Given the description of an element on the screen output the (x, y) to click on. 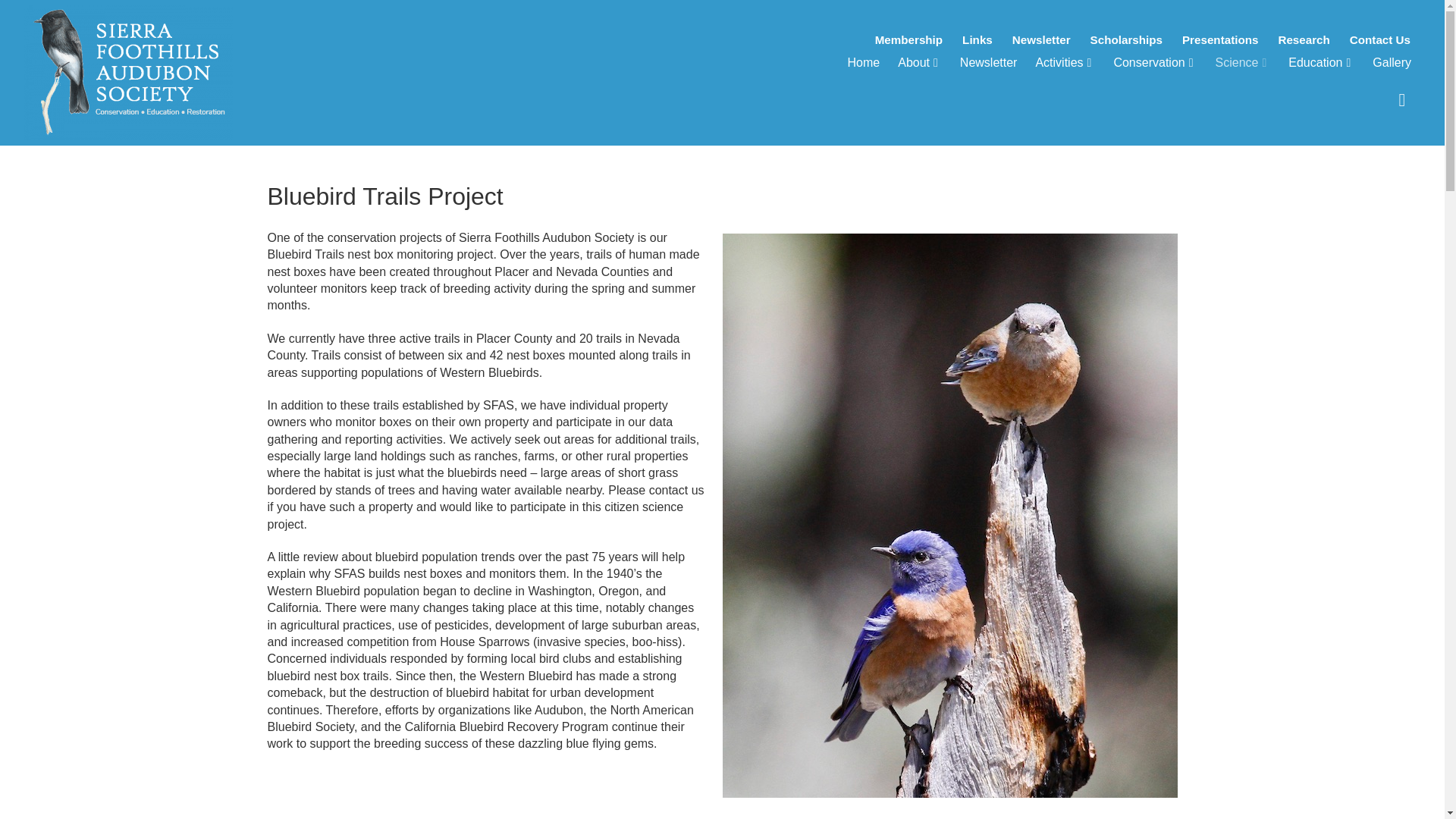
Activities (1064, 62)
Contact Us (1380, 39)
Newsletter (1041, 39)
Science (1243, 62)
Home (863, 62)
Conservation (1154, 62)
Presentations (1220, 39)
About (919, 62)
Membership (908, 39)
Links (977, 39)
